Given the description of an element on the screen output the (x, y) to click on. 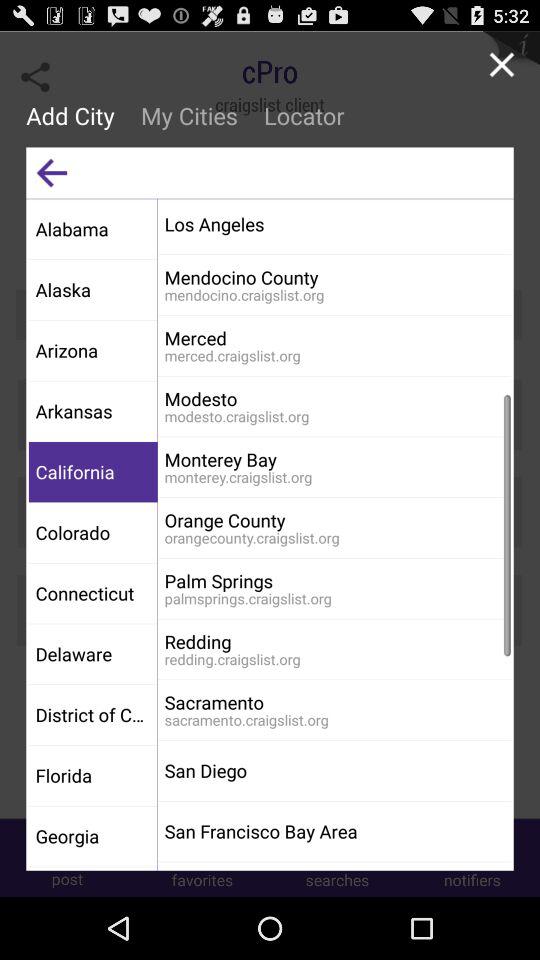
close (501, 63)
